Given the description of an element on the screen output the (x, y) to click on. 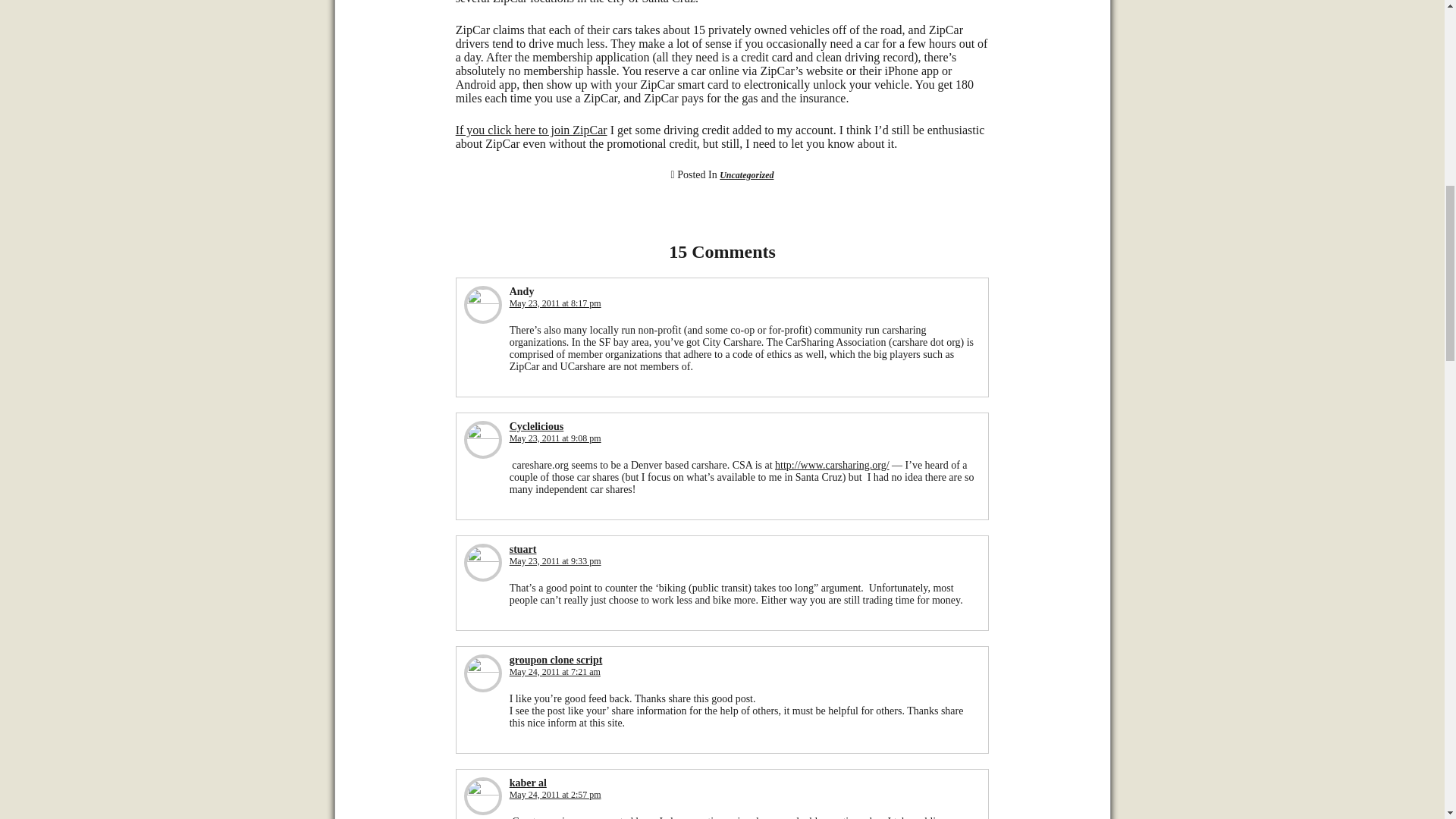
May 23, 2011 at 8:17 pm (555, 303)
May 23, 2011 at 9:08 pm (555, 438)
May 24, 2011 at 2:57 pm (555, 794)
kaber al (528, 782)
stuart (523, 549)
May 23, 2011 at 9:33 pm (555, 561)
If you click here to join ZipCar (531, 129)
Cyclelicious (536, 426)
Uncategorized (746, 174)
groupon clone script (555, 659)
